Given the description of an element on the screen output the (x, y) to click on. 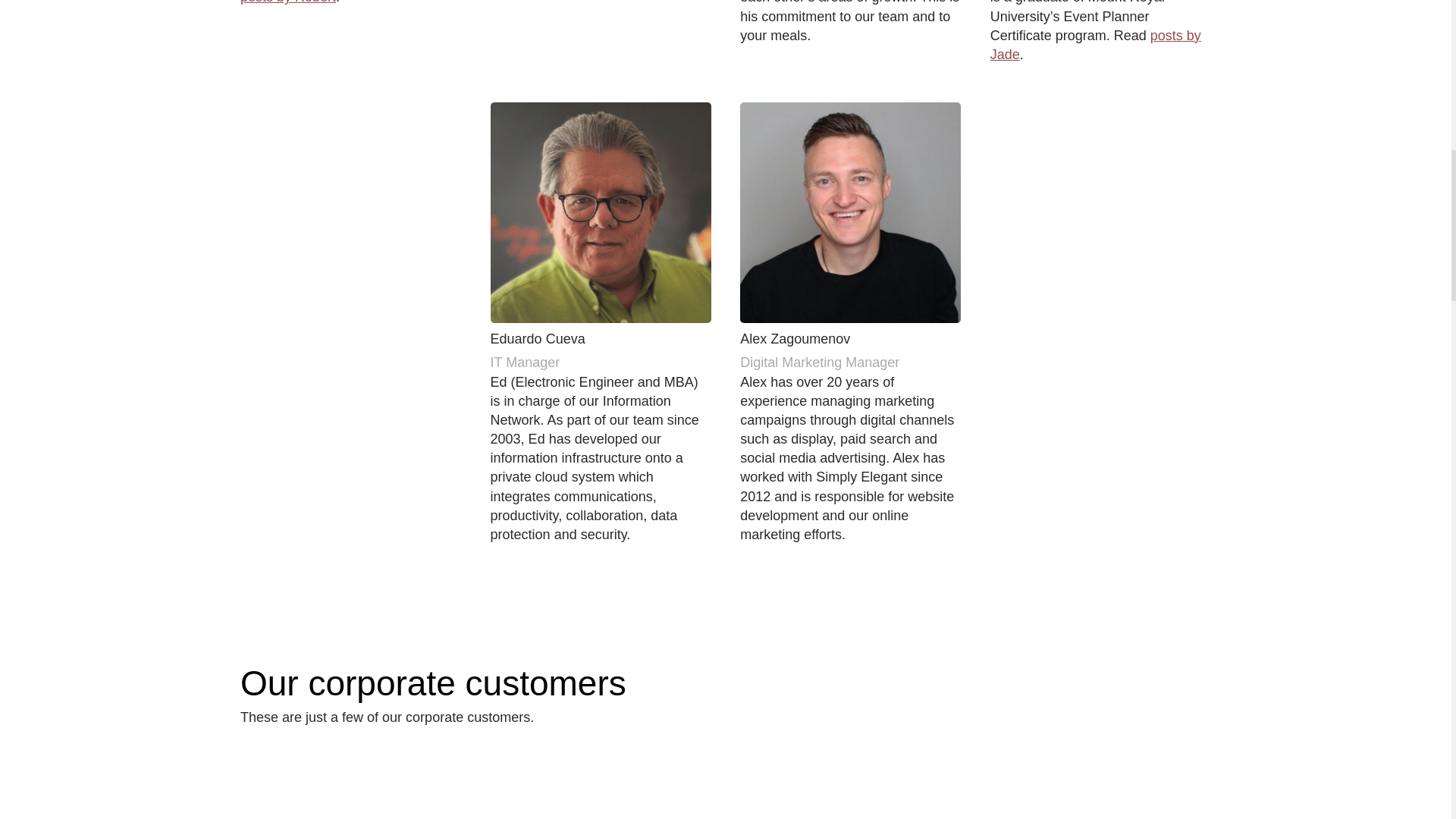
posts by Jade (1095, 44)
posts by Robert (288, 2)
